Given the description of an element on the screen output the (x, y) to click on. 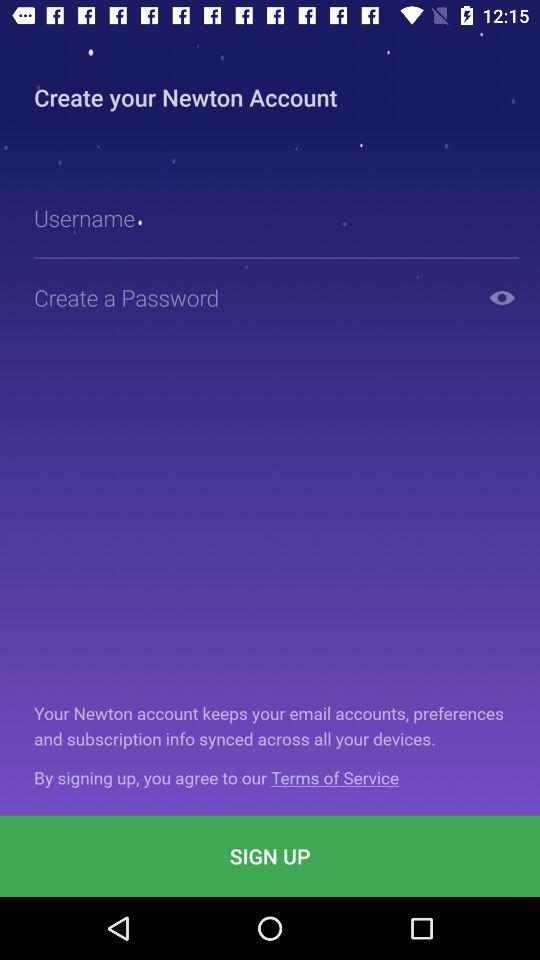
exposed password option (501, 297)
